Given the description of an element on the screen output the (x, y) to click on. 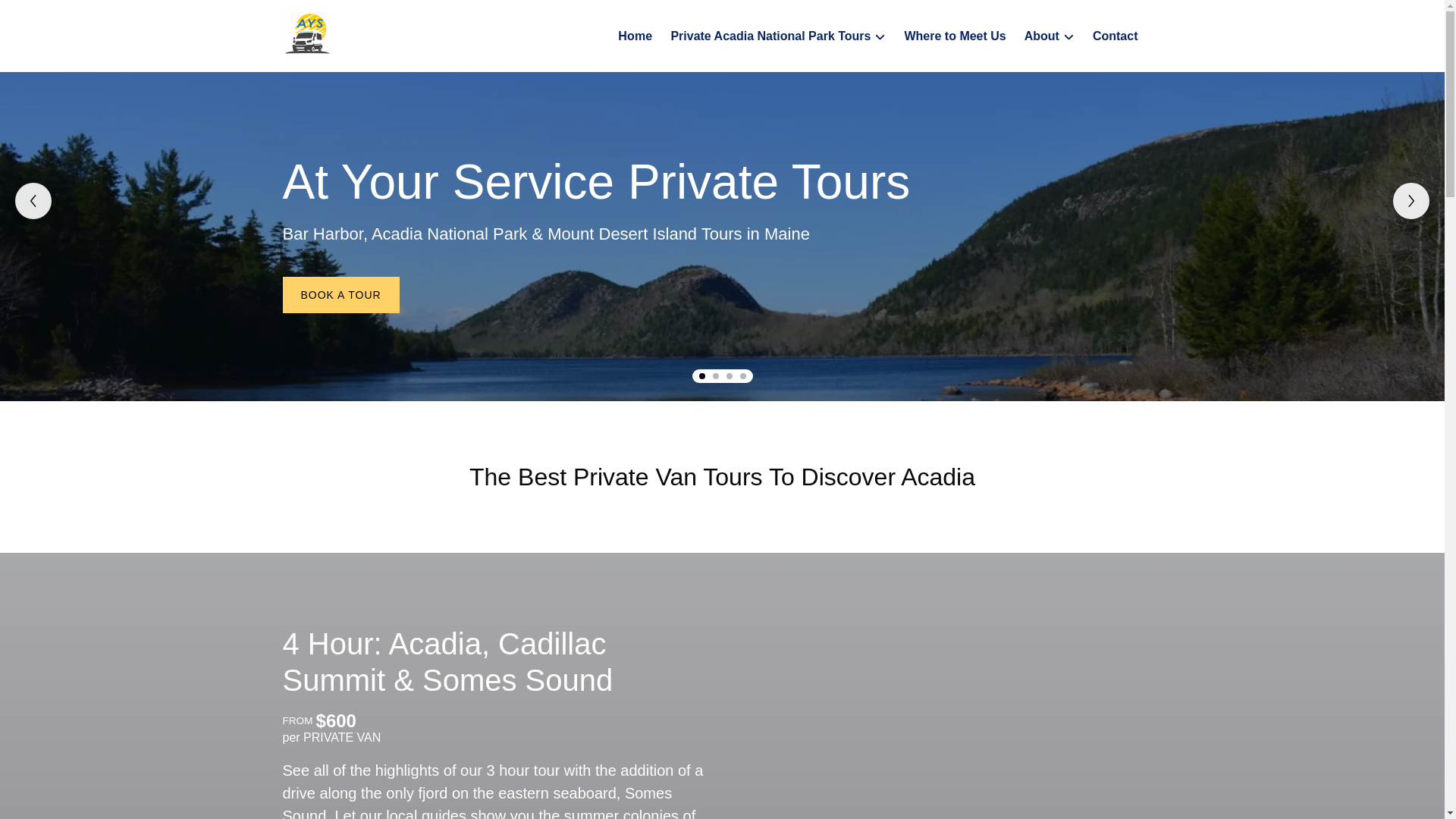
Where to Meet Us (954, 35)
2 (716, 376)
Open Private Acadia National Park Tours Menu (773, 26)
Skip to primary navigation (77, 16)
Previous (32, 199)
Home (634, 35)
BOOK A TOUR (340, 294)
Skip to footer (42, 16)
About (1048, 35)
1 (701, 376)
Open About Menu (1053, 32)
Next (1411, 199)
4 (742, 376)
Private Acadia National Park Tours (778, 35)
3 (729, 376)
